Given the description of an element on the screen output the (x, y) to click on. 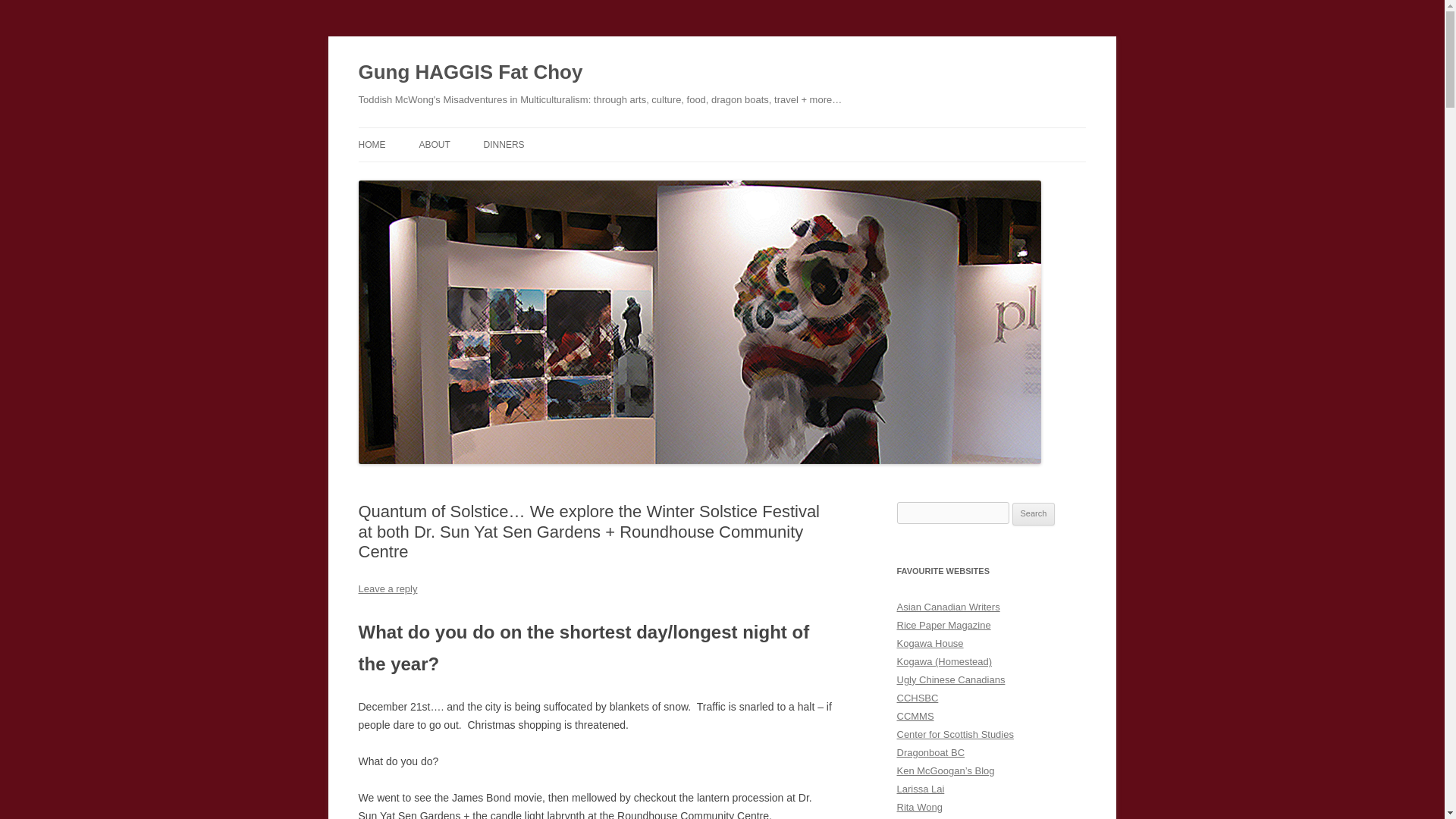
Rice Paper Magazine (943, 624)
Search (1033, 513)
Ugly Chinese Canadians (950, 679)
Gung HAGGIS Fat Choy (470, 72)
DINNERS (503, 144)
CCMMS (914, 715)
Search (1033, 513)
Dragonboat BC (929, 752)
